Given the description of an element on the screen output the (x, y) to click on. 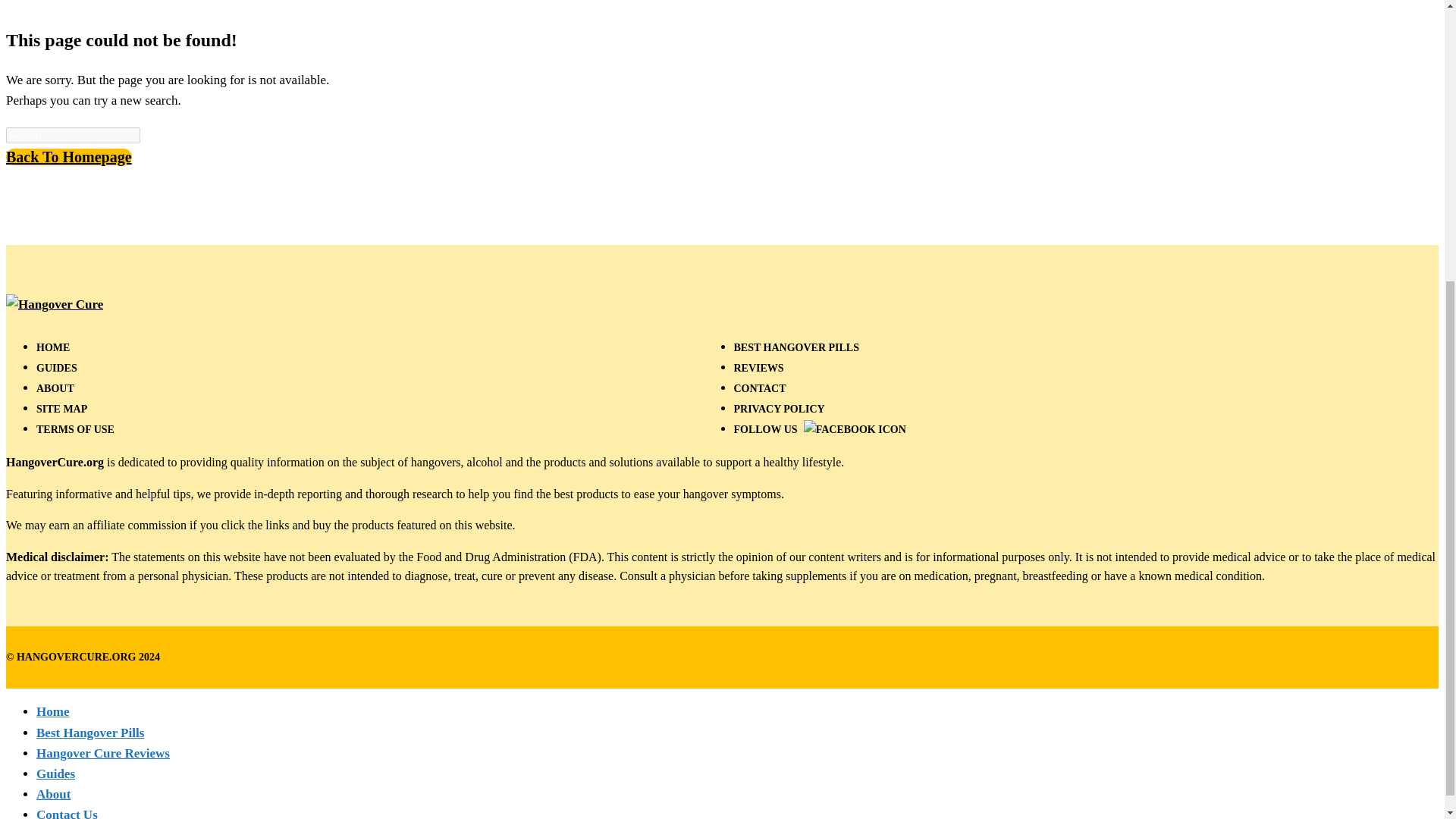
Hangover Cure Reviews (103, 753)
HOME (52, 347)
Best Hangover Pills (90, 732)
FOLLOW US (819, 429)
CONTACT (759, 388)
About (52, 794)
BEST HANGOVER PILLS (796, 347)
PRIVACY POLICY (779, 408)
GUIDES (56, 367)
ABOUT (55, 388)
Home (52, 711)
TERMS OF USE (75, 429)
SITE MAP (61, 408)
REVIEWS (758, 367)
Guides (55, 773)
